Given the description of an element on the screen output the (x, y) to click on. 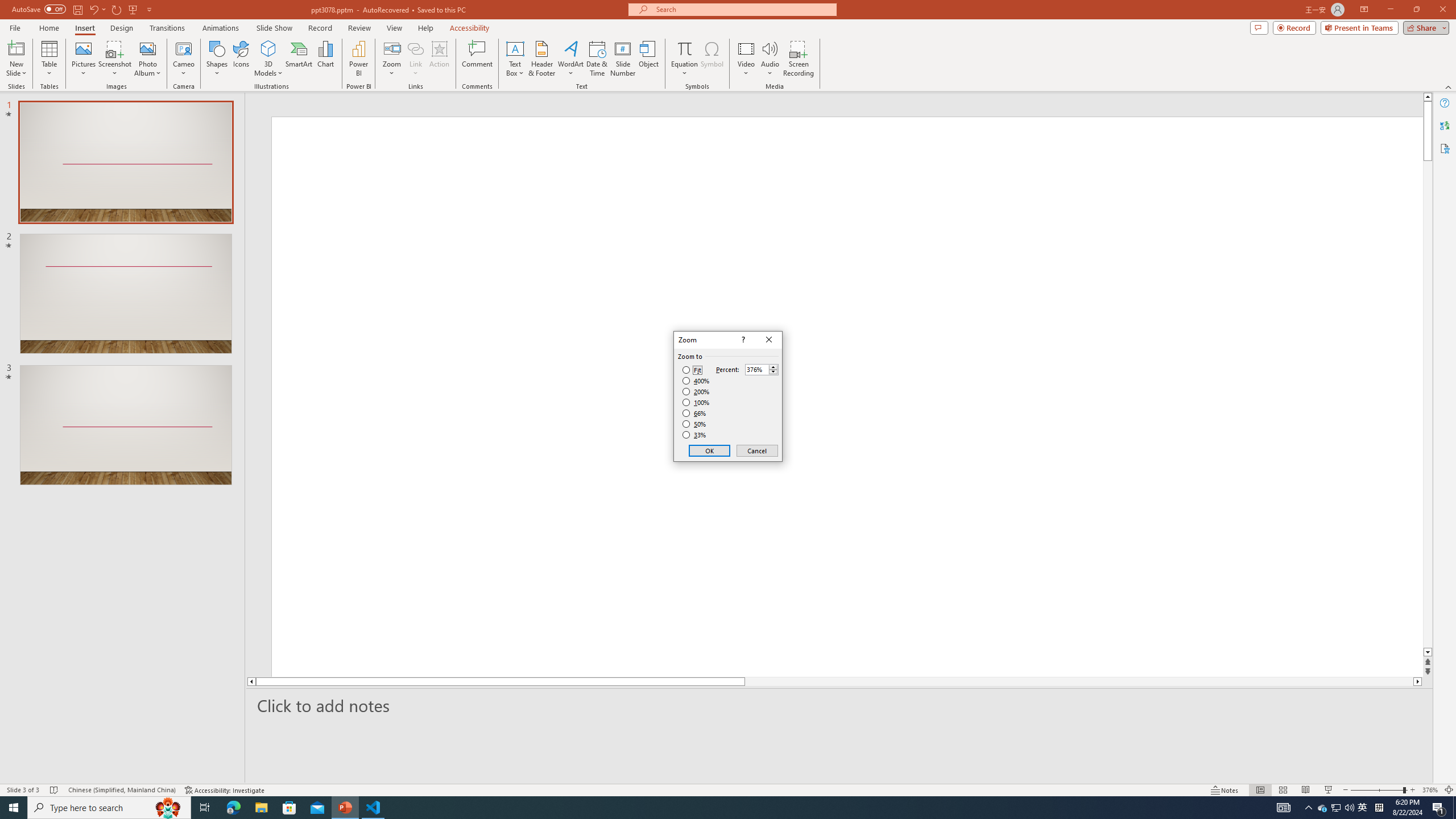
Power BI (358, 58)
Icons (240, 58)
Photo Album... (147, 58)
